Given the description of an element on the screen output the (x, y) to click on. 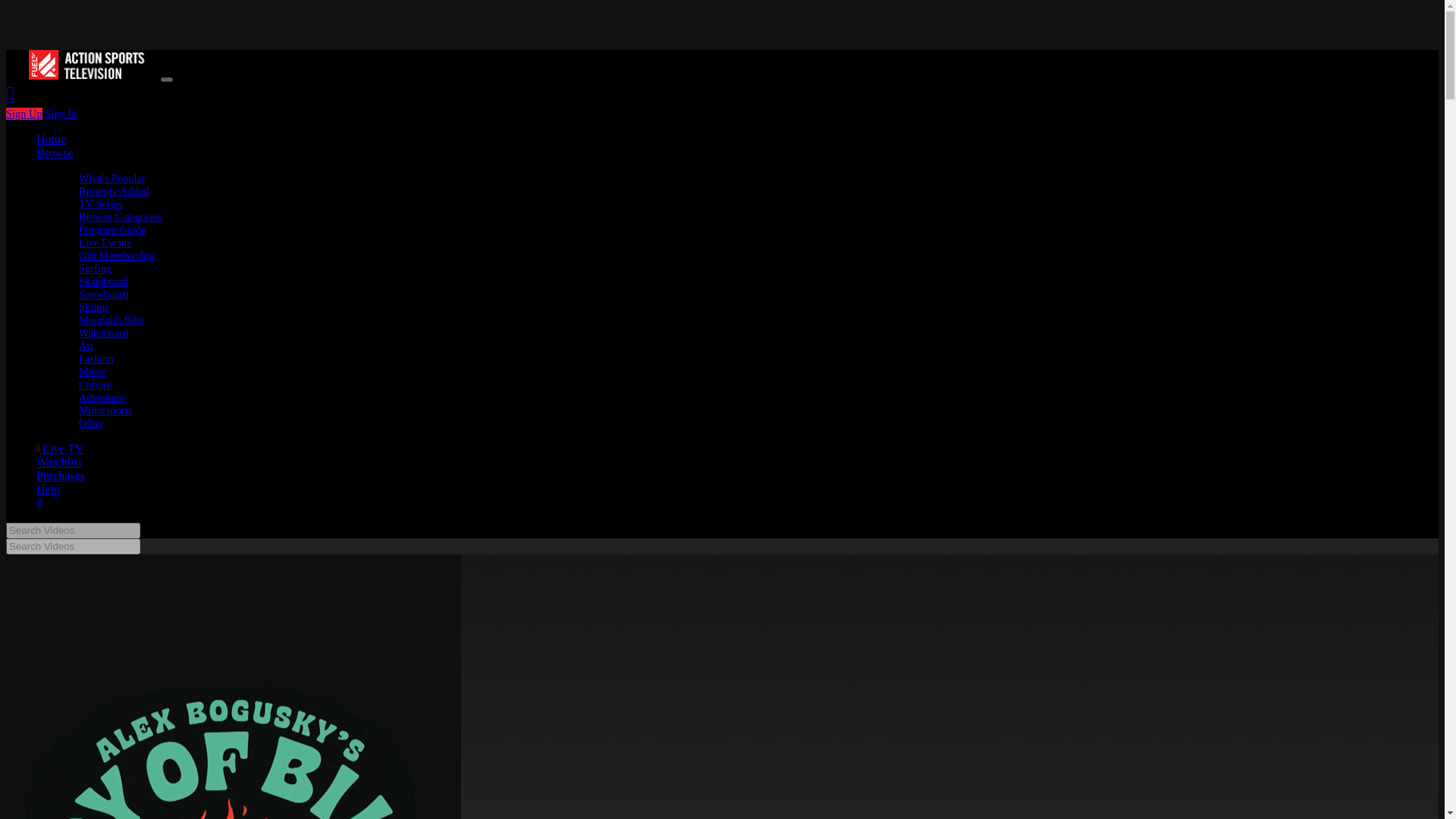
Surfing (95, 268)
Snowboard (103, 294)
Motorsports (105, 410)
Recently Added (113, 191)
Sign In (61, 113)
Adventure (101, 397)
Skiing (92, 306)
Fashion (95, 358)
Live TV (59, 448)
Program Guide (111, 229)
Gift Membership (116, 255)
Mountain Bike (111, 319)
Other (90, 422)
Music (92, 371)
TV Series (100, 203)
